Given the description of an element on the screen output the (x, y) to click on. 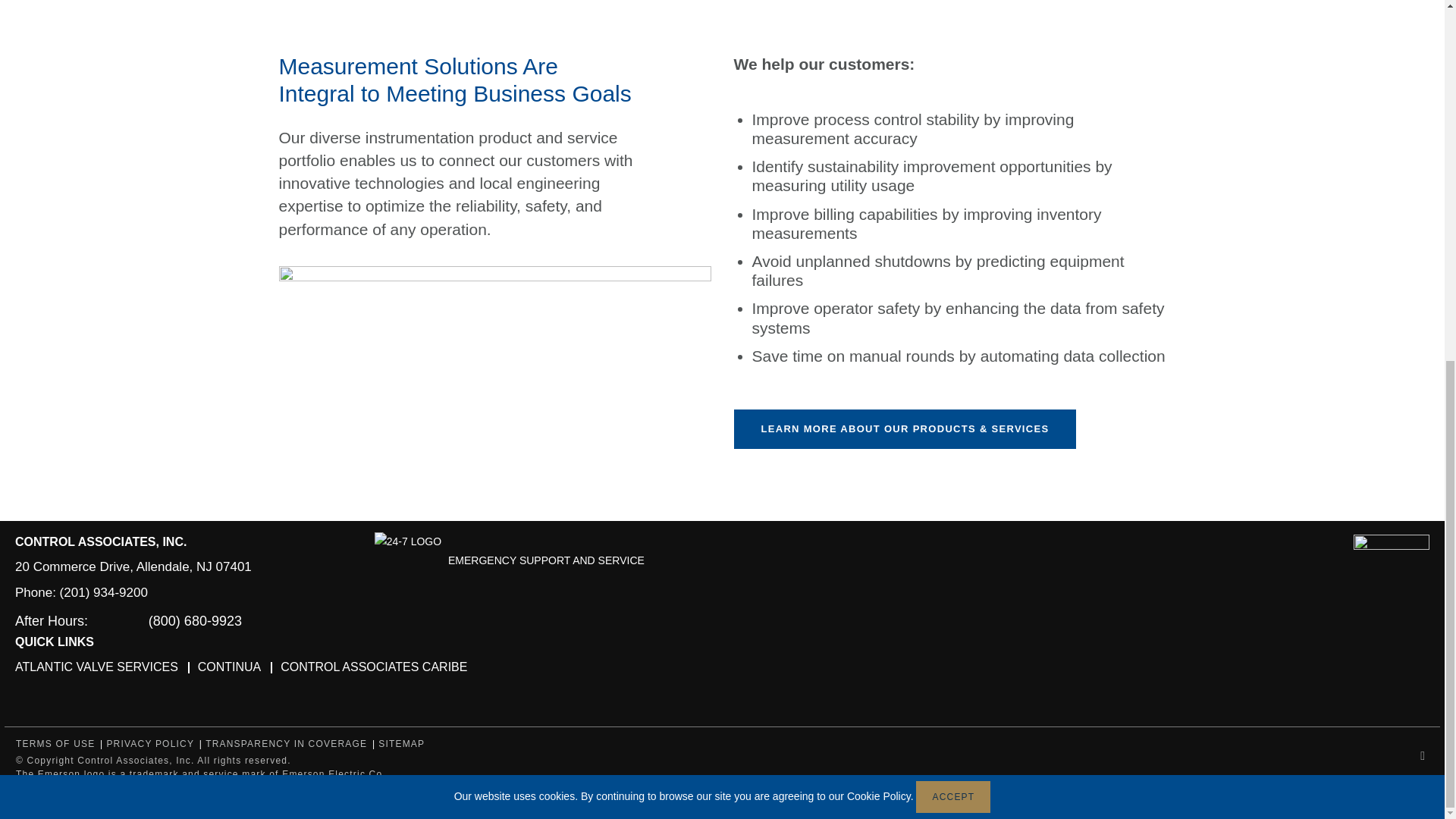
Accept (952, 155)
Atlantic Valve Services (95, 667)
Continua (230, 667)
Control Associates Caribe (374, 667)
